Given the description of an element on the screen output the (x, y) to click on. 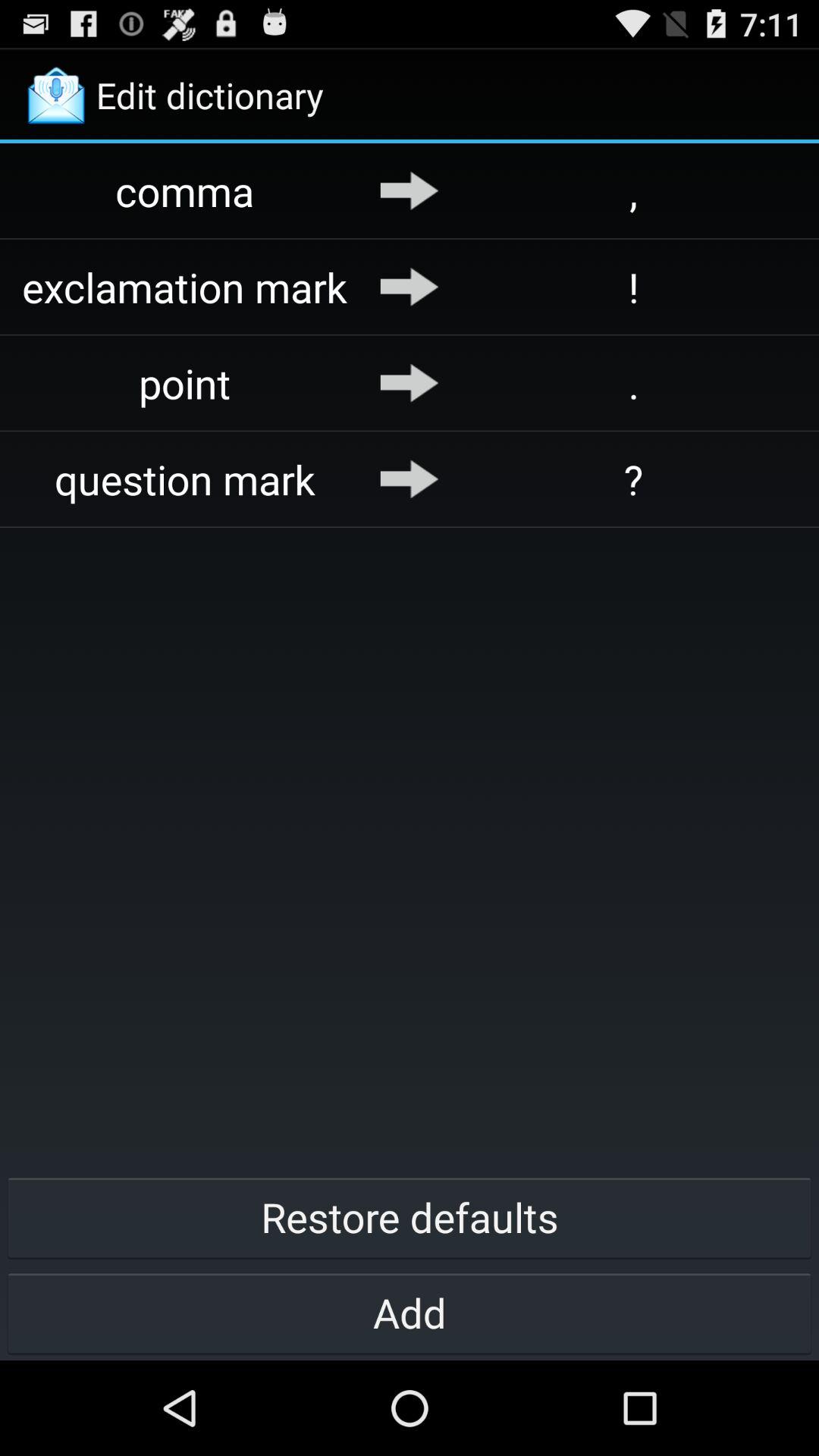
open item above restore defaults button (633, 478)
